Given the description of an element on the screen output the (x, y) to click on. 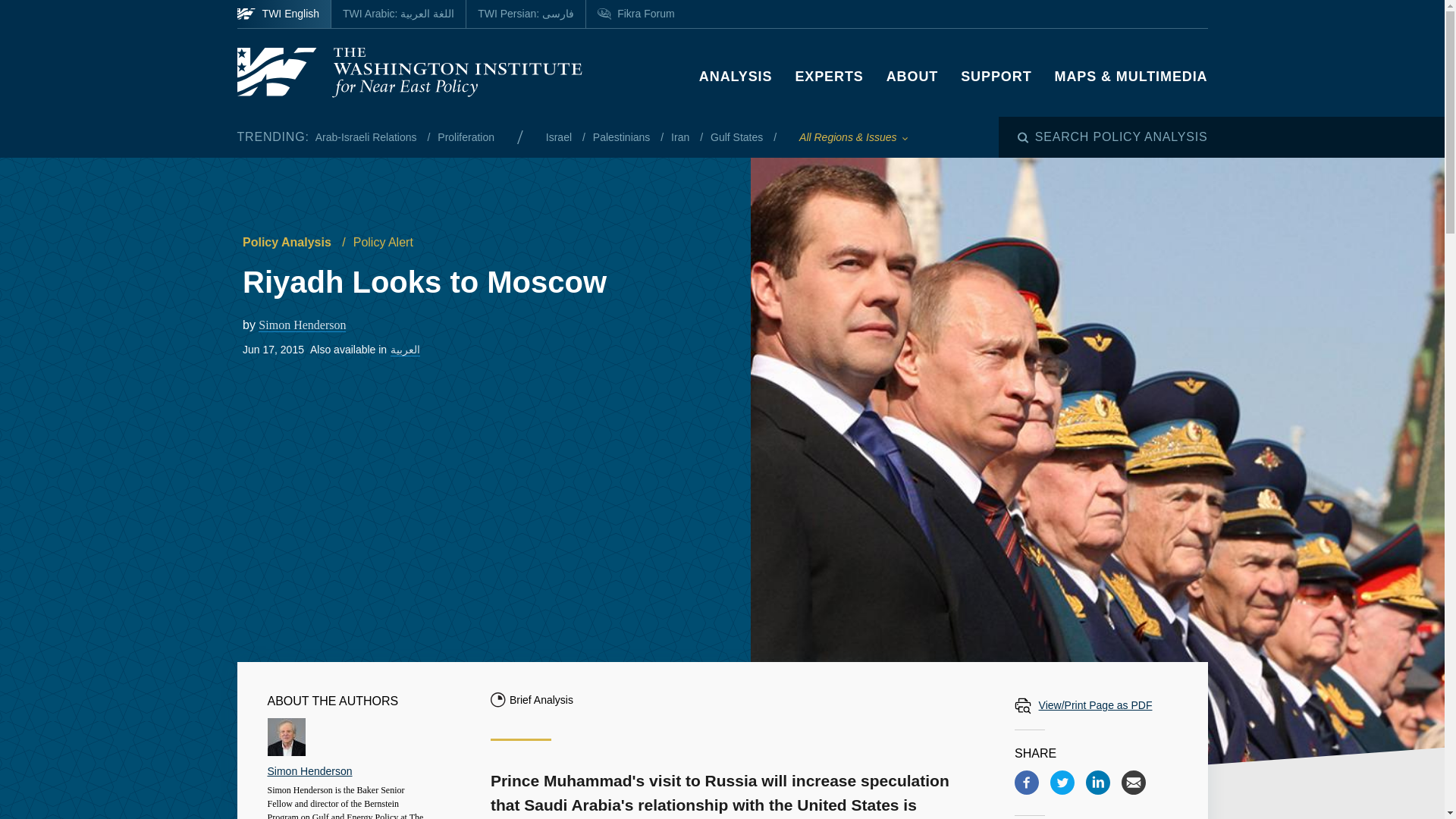
Linkedin (1097, 782)
ABOUT (912, 76)
Gulf States (737, 136)
ANALYSIS (735, 76)
Arab-Israeli Relations (367, 136)
Facebook (1026, 782)
Proliferation (466, 136)
Homepage (407, 72)
Palestinians (622, 136)
Email (1133, 782)
Twitter (1061, 782)
Israel (560, 136)
Iran (682, 136)
SUPPORT (995, 76)
